Given the description of an element on the screen output the (x, y) to click on. 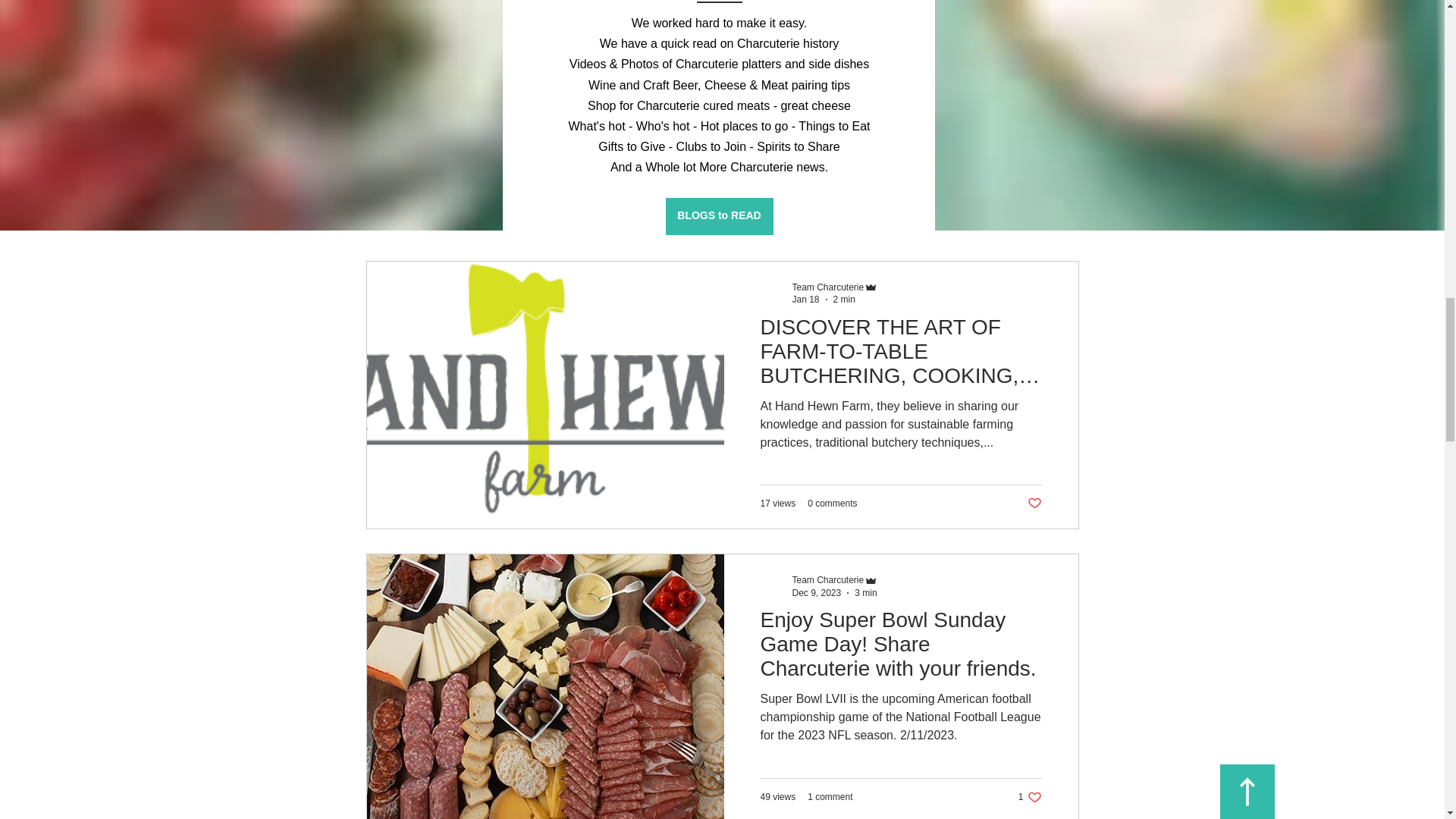
2 min (844, 299)
Team Charcuterie (827, 579)
Jan 18 (805, 299)
3 min (865, 593)
Dec 9, 2023 (816, 593)
Team Charcuterie (827, 286)
